Given the description of an element on the screen output the (x, y) to click on. 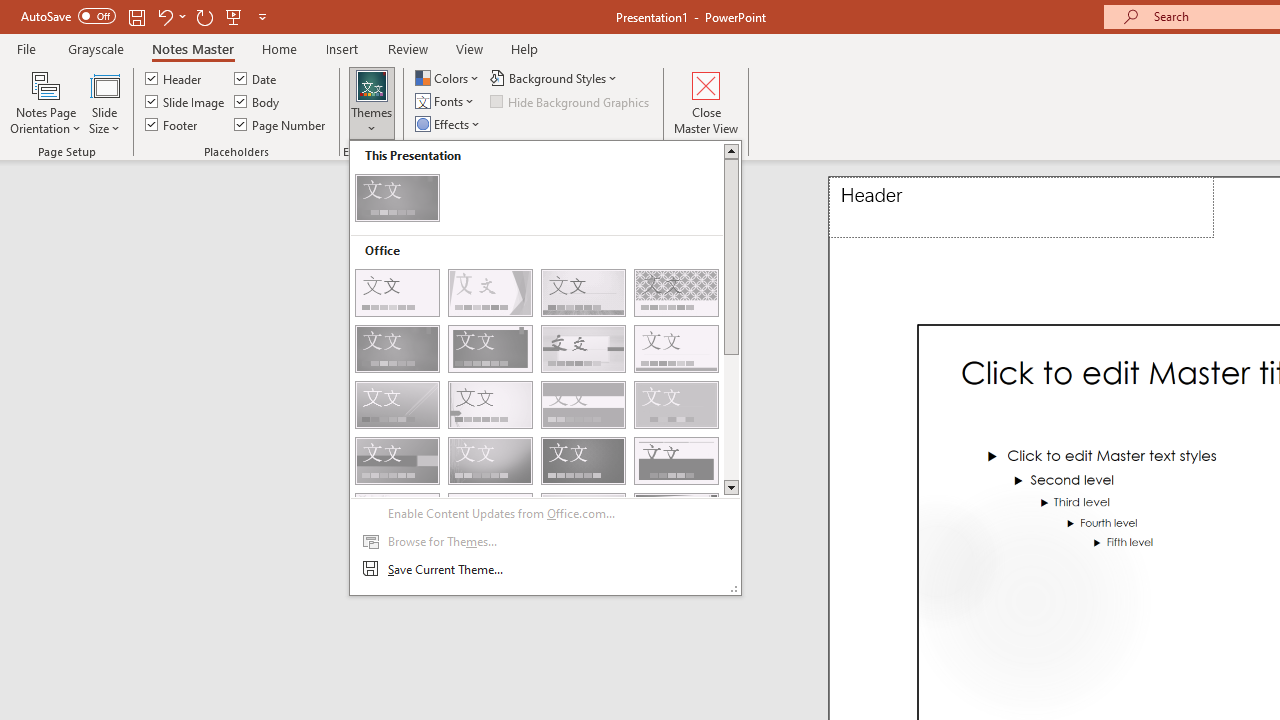
Close Master View (706, 102)
Notes Page Orientation (45, 102)
Header (174, 78)
Footer (172, 124)
Fonts (446, 101)
Themes (545, 367)
